Given the description of an element on the screen output the (x, y) to click on. 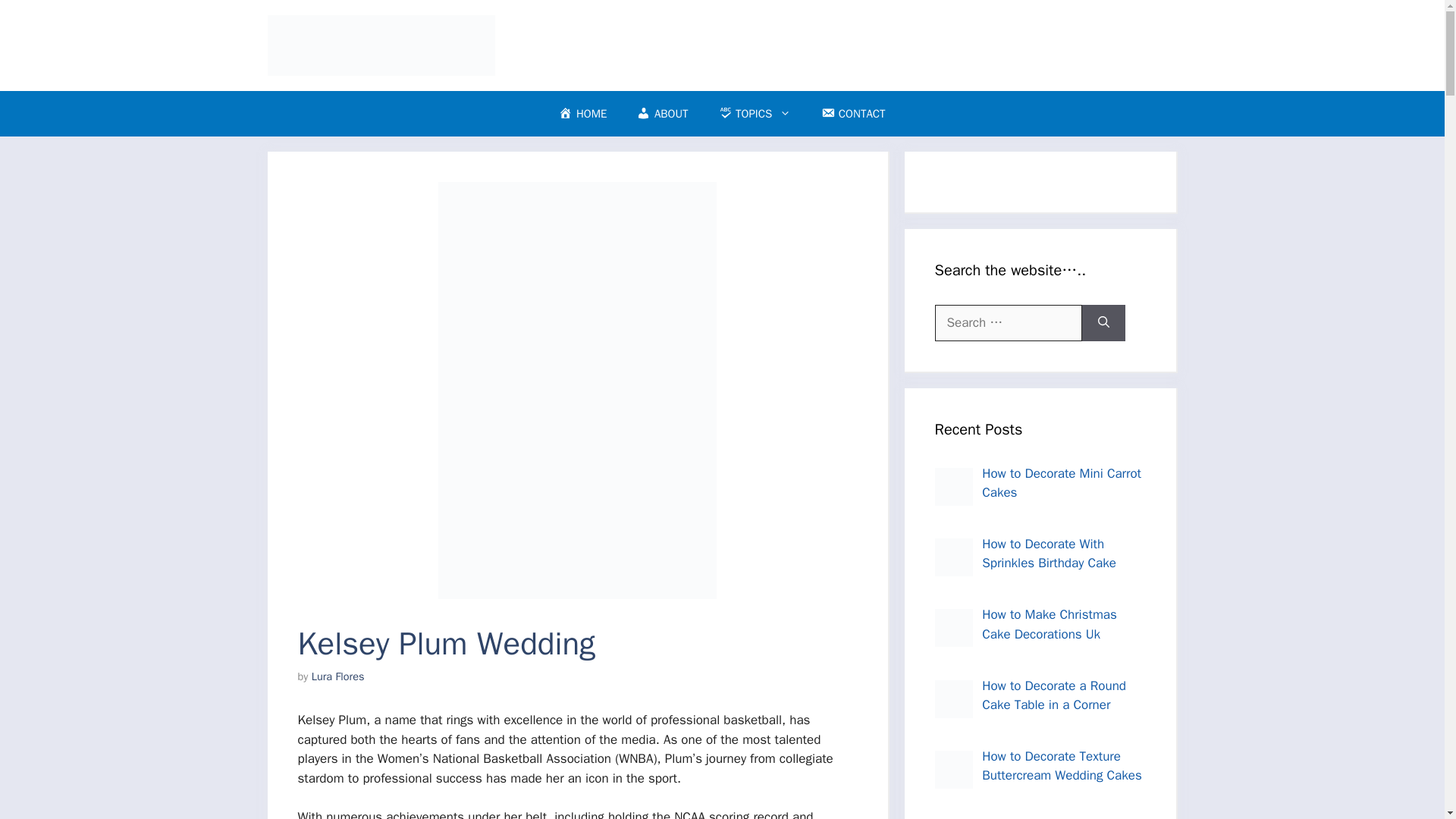
ABOUT (662, 113)
TOPICS (754, 113)
View all posts by Lura Flores (338, 676)
HOME (582, 113)
